Given the description of an element on the screen output the (x, y) to click on. 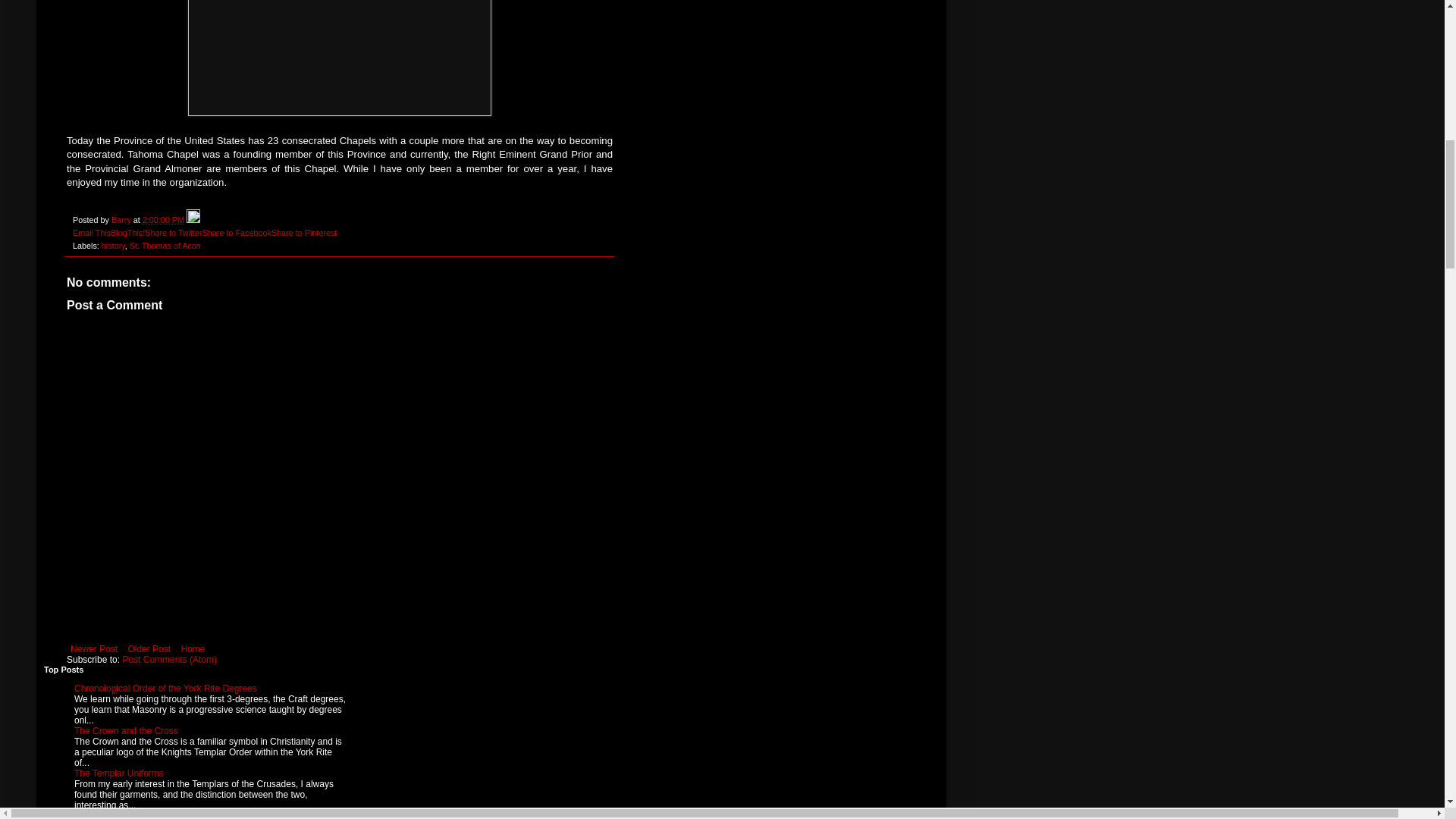
Share to Twitter (173, 232)
Newer Post (93, 648)
The Death of Jacques DeMolay (138, 814)
Older Post (148, 648)
Chronological Order of the York Rite Degrees (165, 688)
Share to Twitter (173, 232)
Share to Facebook (236, 232)
Barry (122, 219)
The Templar Uniforms (118, 773)
permanent link (163, 219)
Share to Facebook (236, 232)
Email This (91, 232)
St. Thomas of Acon (164, 245)
Share to Pinterest (303, 232)
BlogThis! (127, 232)
